Given the description of an element on the screen output the (x, y) to click on. 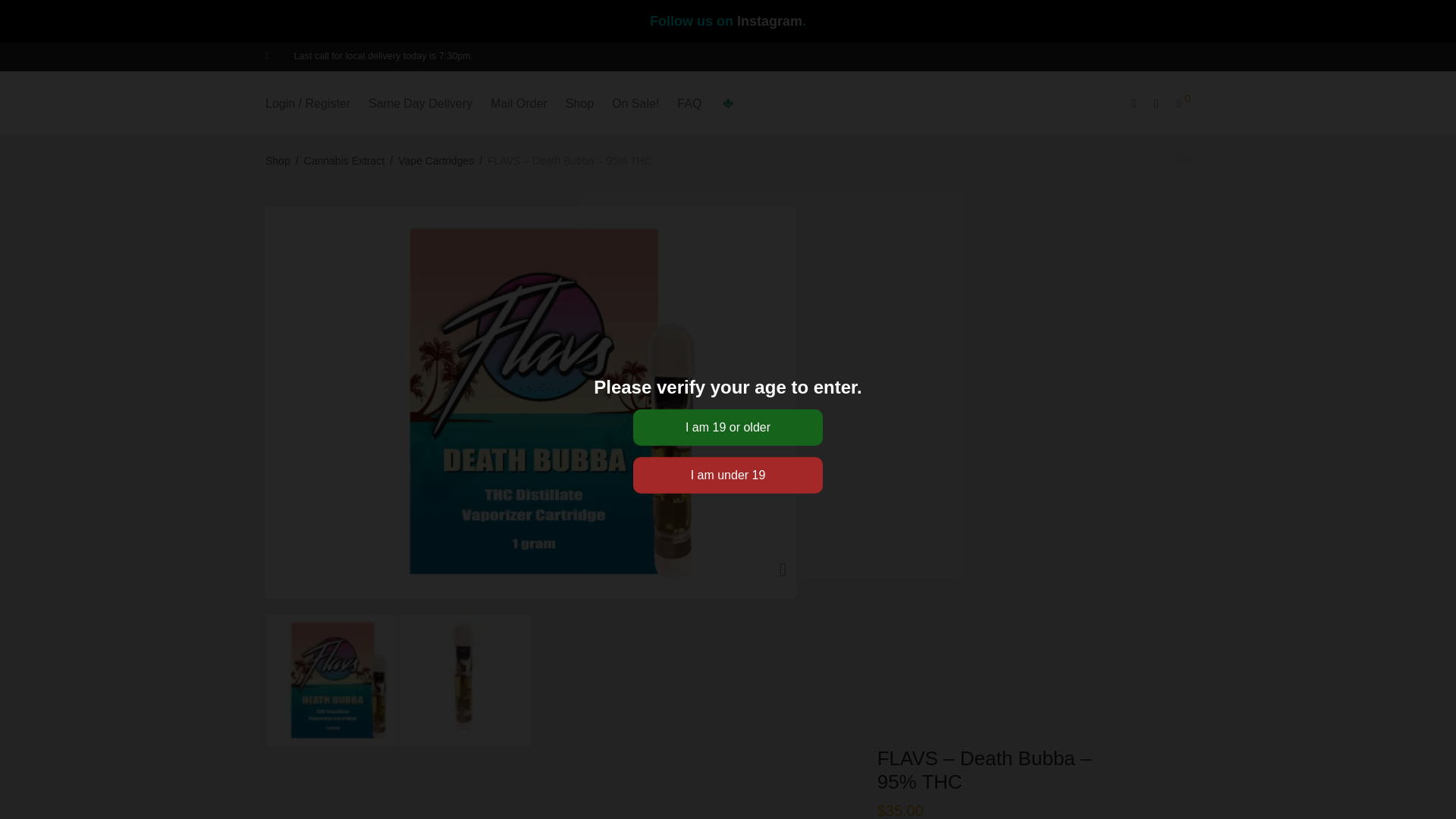
Instagram (769, 20)
I am under 19 (727, 474)
I am 19 or older (727, 426)
Same Day Delivery (420, 103)
Mail Order (518, 103)
Shop (579, 103)
